Given the description of an element on the screen output the (x, y) to click on. 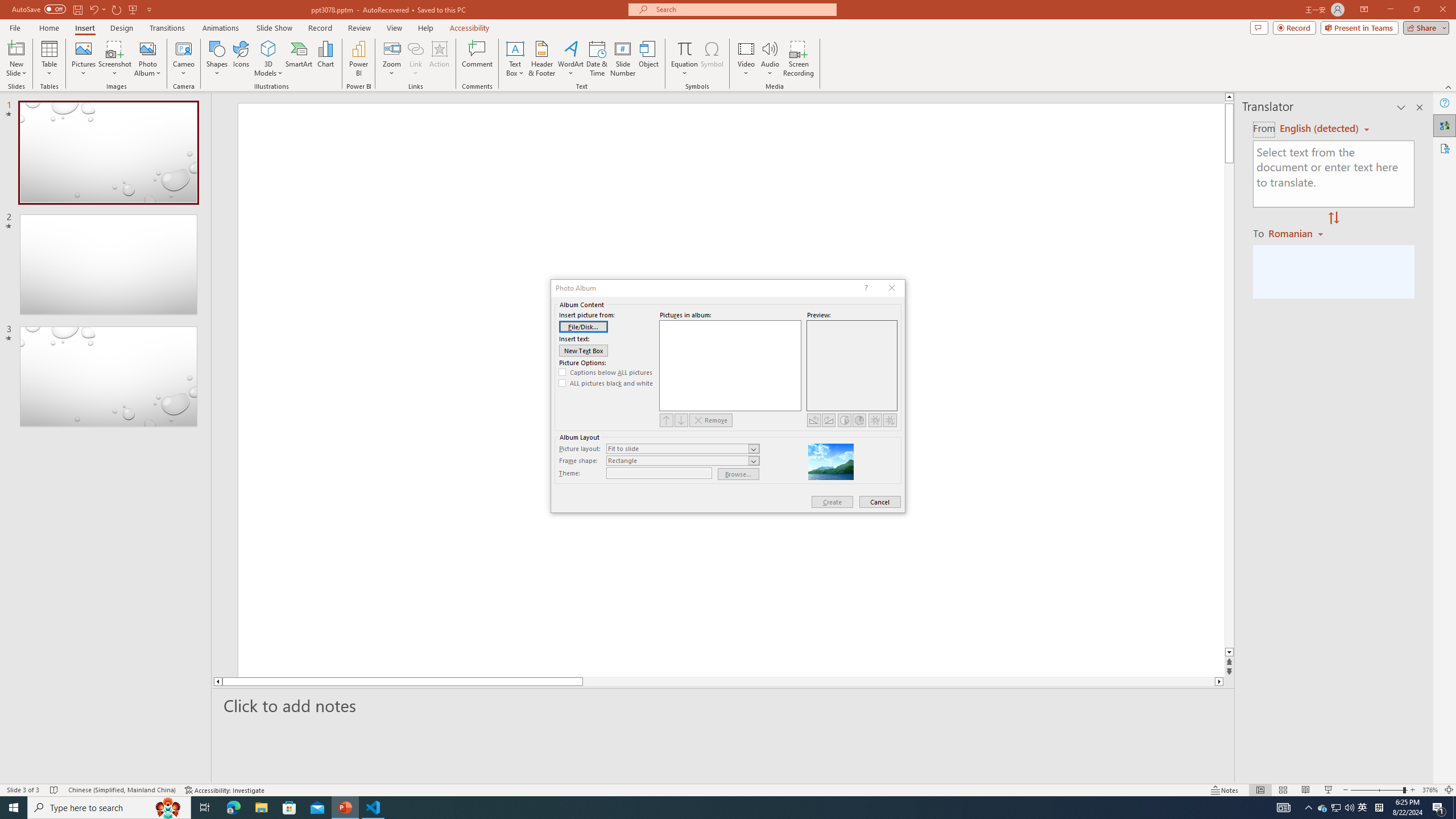
Less Contrast (858, 419)
Screen Recording... (798, 58)
Zoom 376% (1430, 790)
More Contrast (844, 419)
